Given the description of an element on the screen output the (x, y) to click on. 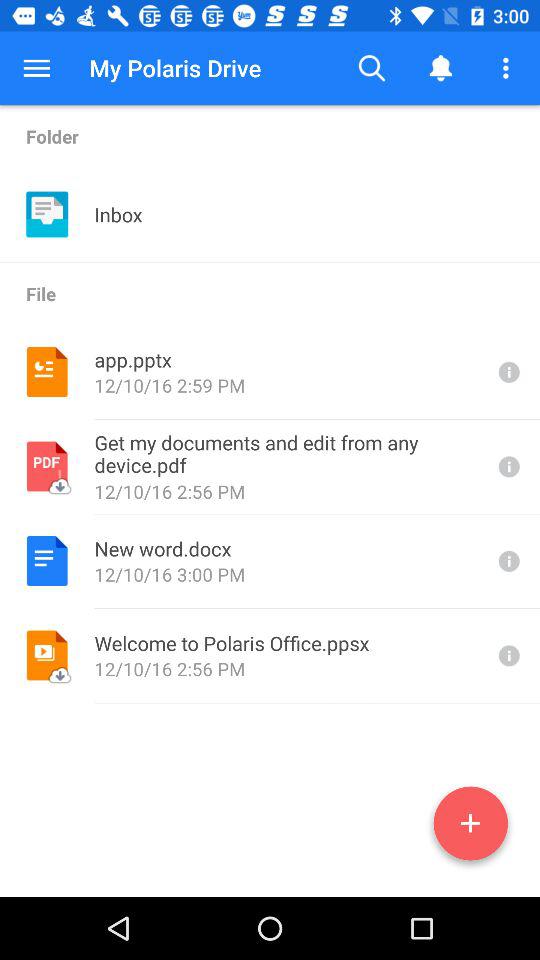
tap my polaris drive button (175, 68)
